Given the description of an element on the screen output the (x, y) to click on. 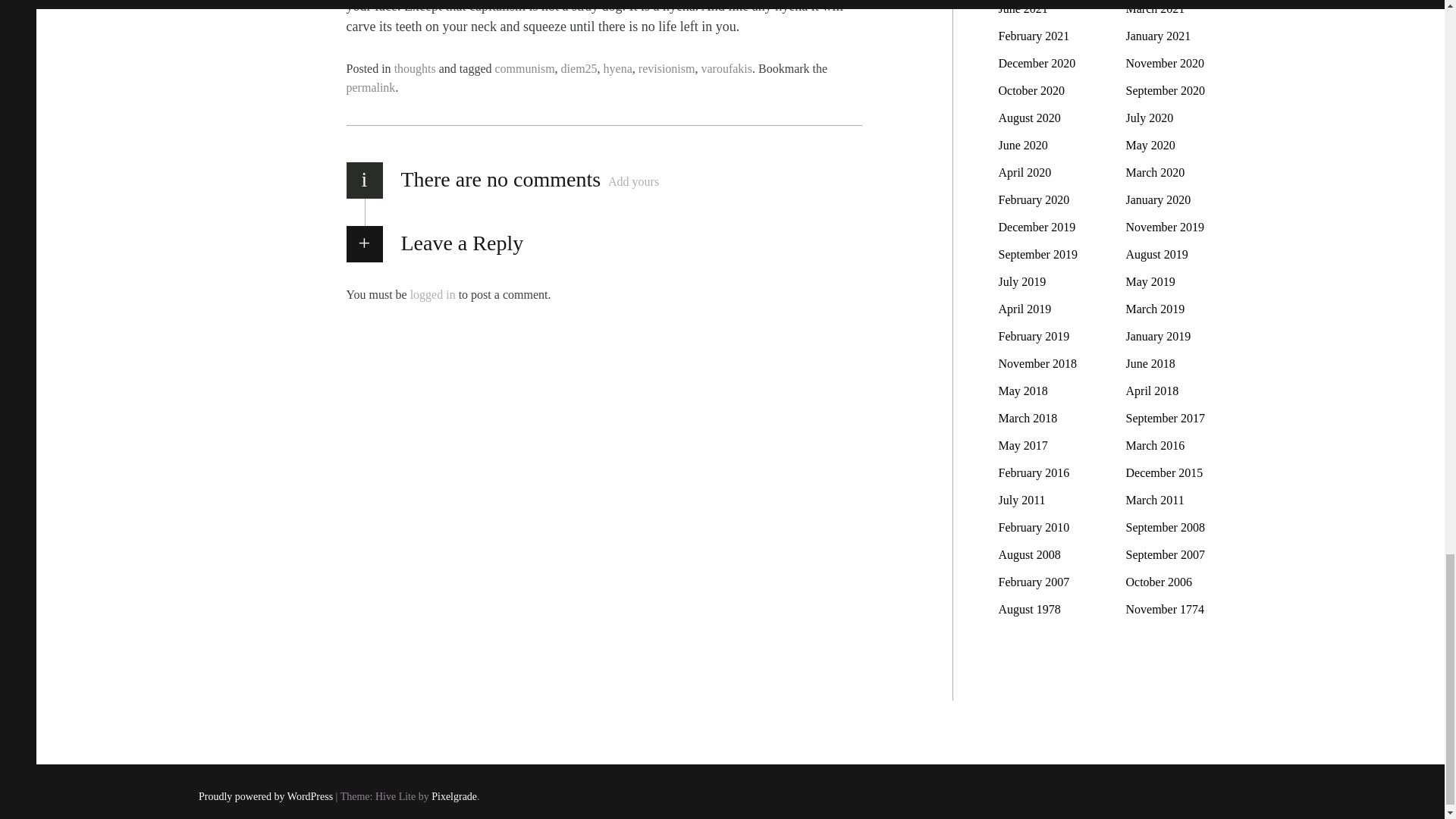
hyena (617, 68)
The Pixelgrade Website (453, 797)
thoughts (414, 68)
diem25 (578, 68)
logged in (432, 293)
Add yours (633, 181)
communism (524, 68)
varoufakis (726, 68)
revisionism (667, 68)
permalink (370, 87)
